Given the description of an element on the screen output the (x, y) to click on. 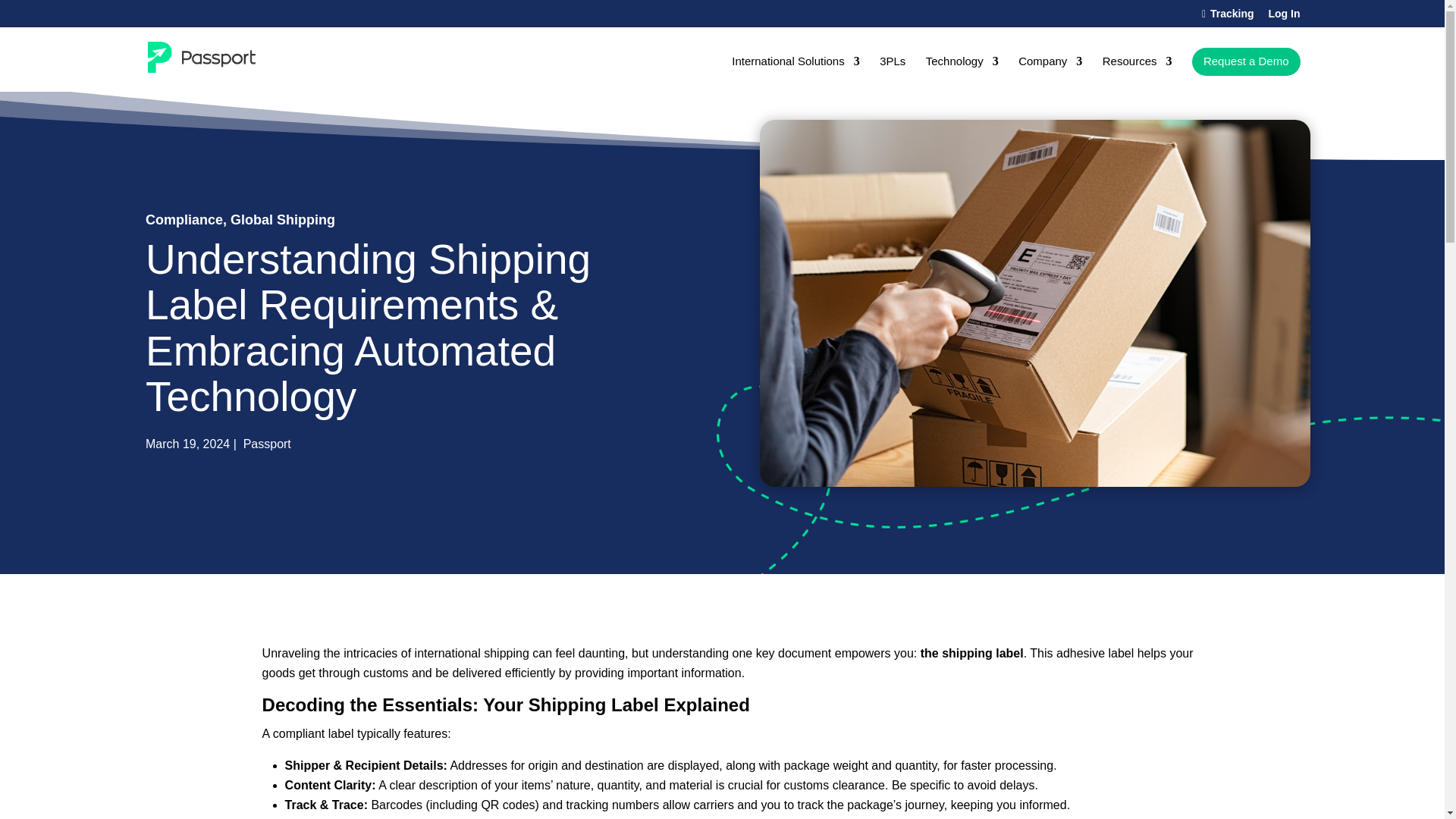
Compliance (183, 219)
Request a Demo (1246, 61)
Log In (1284, 16)
Tracking (1227, 17)
Global Shipping (282, 219)
Technology (962, 73)
Resources (1137, 73)
Company (1049, 73)
International Solutions (795, 73)
